Given the description of an element on the screen output the (x, y) to click on. 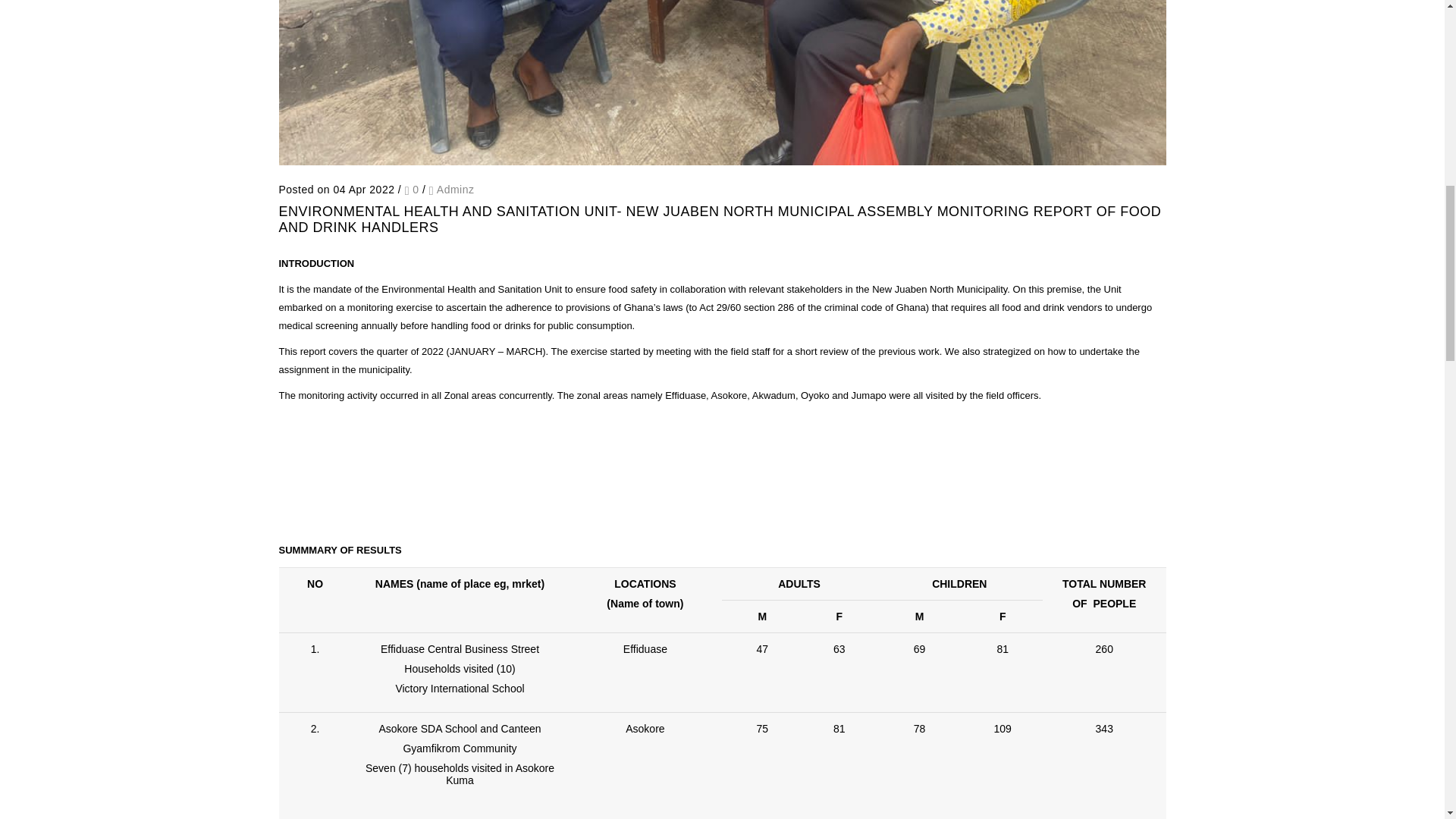
0 (411, 189)
View all posts by Adminz (455, 189)
Adminz (455, 189)
